Given the description of an element on the screen output the (x, y) to click on. 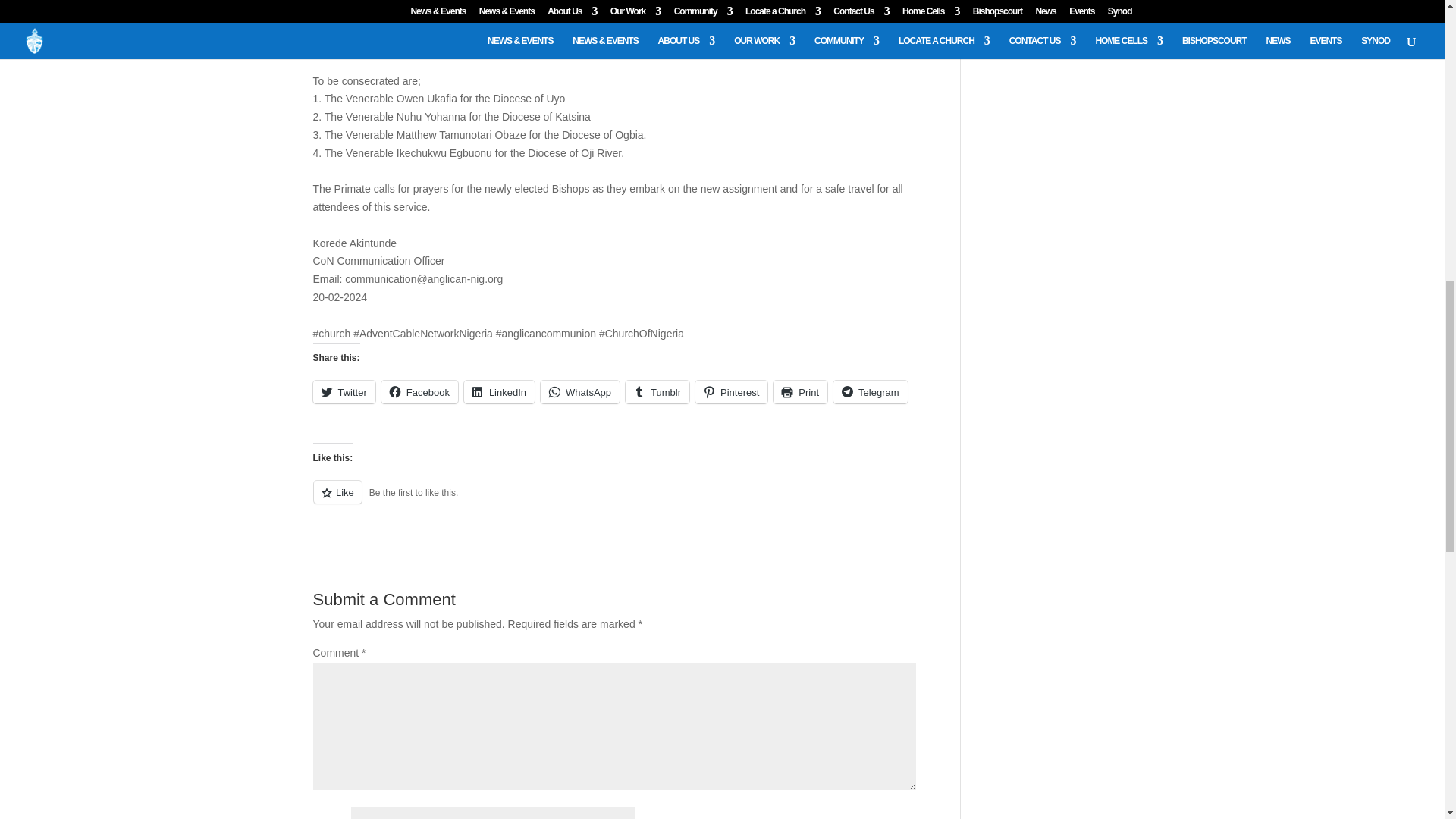
Click to share on WhatsApp (580, 391)
Like or Reblog (614, 500)
Click to share on Pinterest (731, 391)
Click to share on Facebook (419, 391)
Click to print (800, 391)
Click to share on Telegram (869, 391)
Click to share on LinkedIn (499, 391)
Click to share on Twitter (343, 391)
Click to share on Tumblr (657, 391)
